Given the description of an element on the screen output the (x, y) to click on. 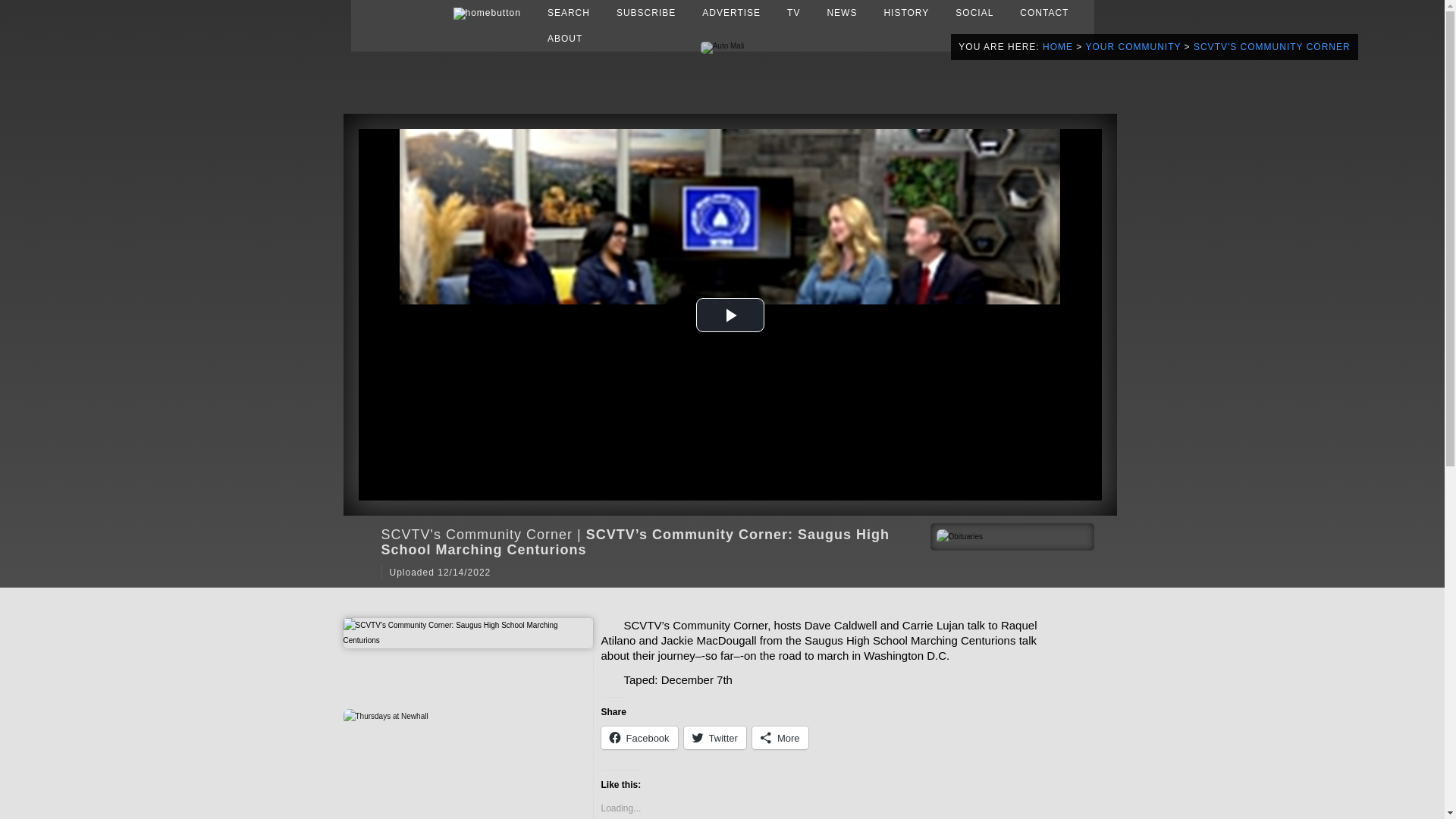
SUBSCRIBE (645, 12)
ADVERTISE (731, 12)
TV (793, 12)
Click to share on Facebook (638, 737)
NEWS (841, 12)
Obituaries (959, 536)
SEARCH (568, 12)
Thursdays at Newhall (385, 715)
Auto Mall (722, 45)
Click to share on Twitter (714, 737)
Play Video (729, 314)
